Given the description of an element on the screen output the (x, y) to click on. 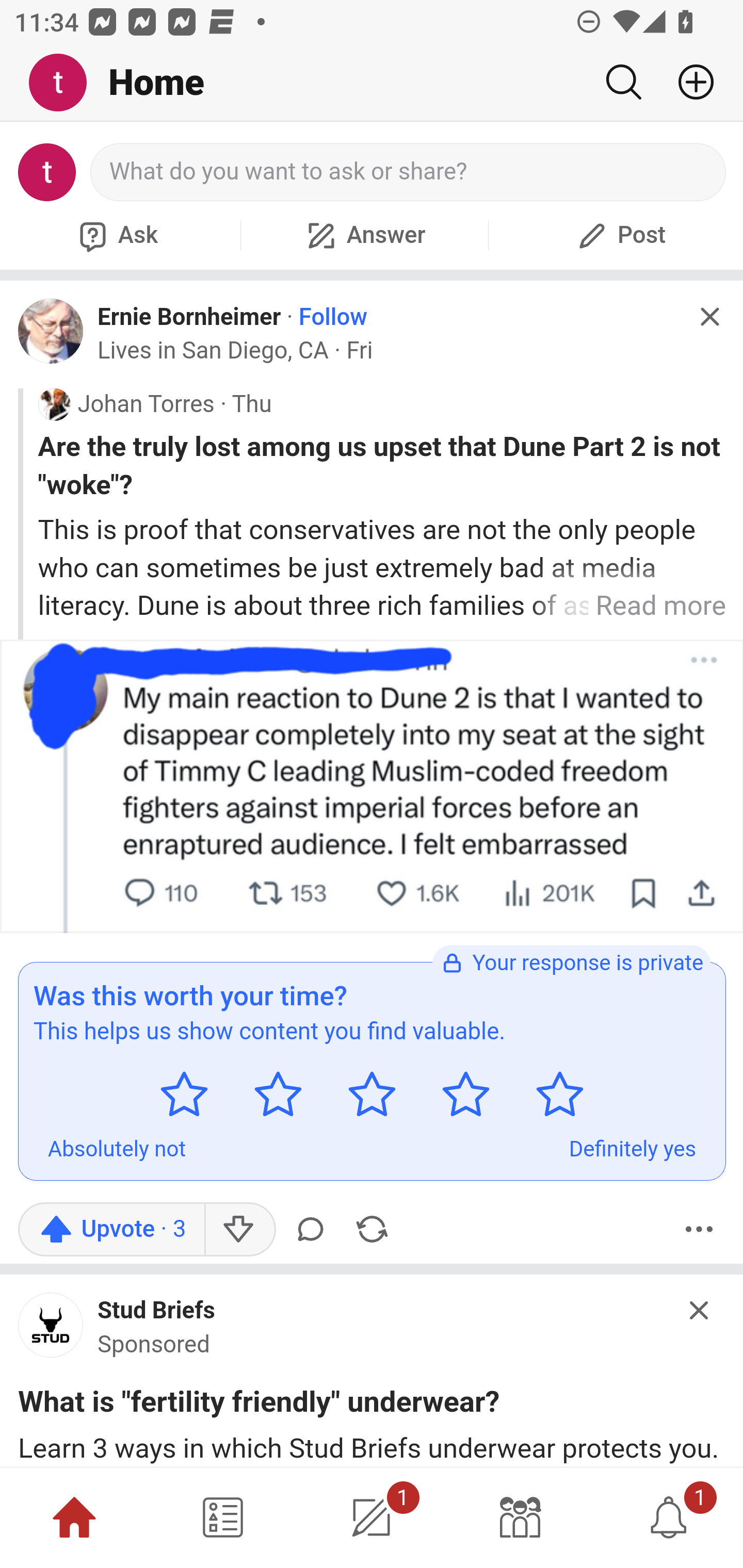
Me (64, 83)
Search (623, 82)
Add (688, 82)
What do you want to ask or share? (408, 172)
Ask (116, 234)
Answer (364, 234)
Post (618, 234)
Hide (709, 316)
Profile photo for Ernie Bornheimer (50, 330)
Ernie Bornheimer (189, 315)
Follow (332, 316)
Profile photo for Johan Torres (54, 404)
Upvote (111, 1229)
Downvote (238, 1229)
Comment (313, 1229)
Share (372, 1229)
More (699, 1229)
Hide (699, 1309)
main-qimg-f203deb7121183c78e5088192cee230f (50, 1330)
Stud Briefs (156, 1310)
Sponsored (154, 1344)
What is "fertility friendly" underwear? (258, 1405)
1 (371, 1517)
1 (668, 1517)
